Given the description of an element on the screen output the (x, y) to click on. 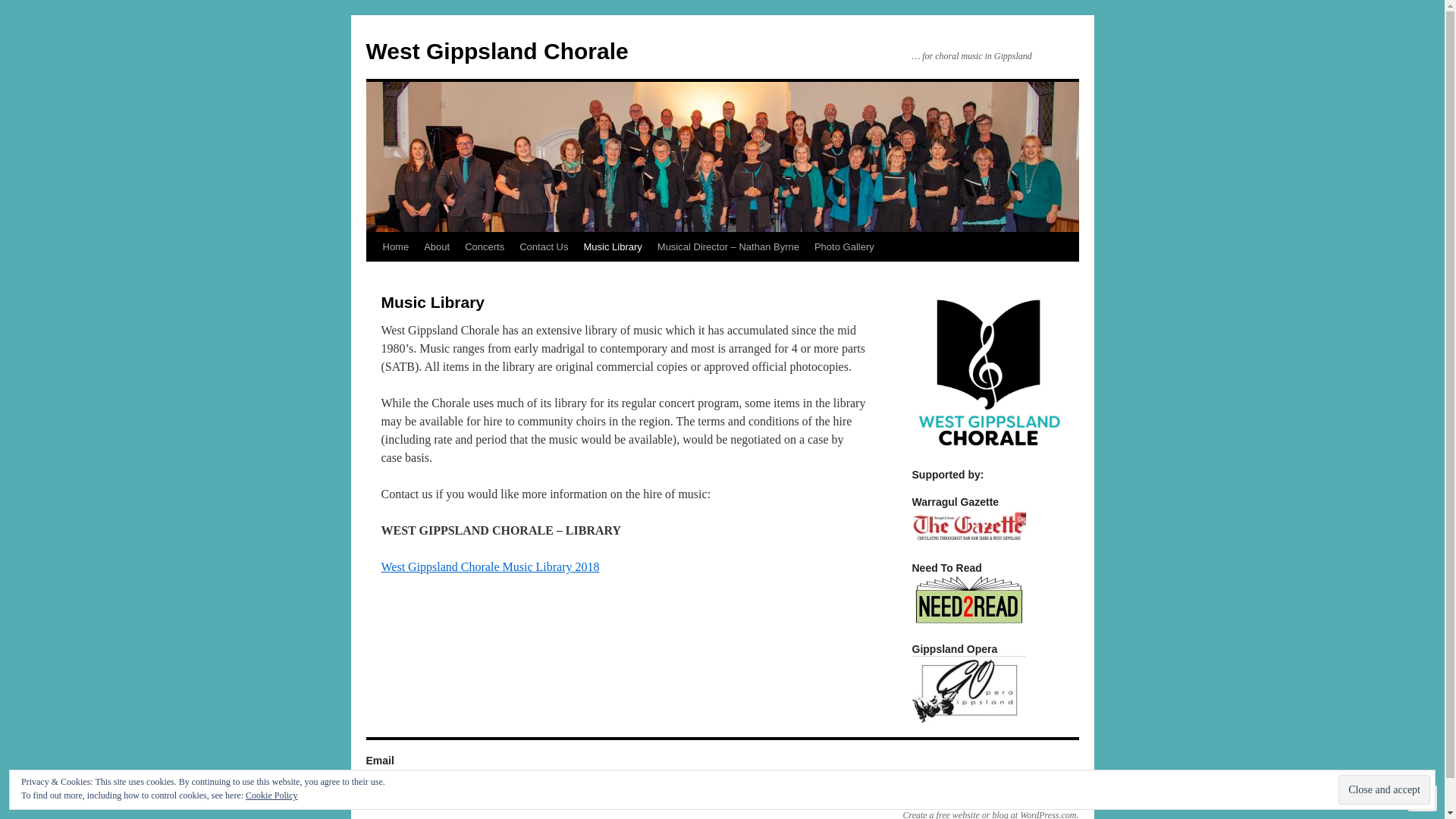
contact@westgippslandchorale.org.au Element type: text (434, 773)
Need 2 Read Element type: hover (968, 599)
West Gippsland Chorale Element type: text (496, 50)
Concerts Element type: text (484, 246)
Photo Gallery Element type: text (843, 246)
Cookie Policy Element type: text (271, 795)
About Element type: text (436, 246)
Home Element type: text (395, 246)
Contact Us Element type: text (543, 246)
West Gippsland Chorale Element type: text (426, 801)
West Gippsland Chorale Music Library 2018 Element type: text (489, 566)
Like or Reblog Element type: hover (623, 621)
Close and accept Element type: text (1384, 789)
Music Library Element type: text (612, 246)
Gazette Element type: hover (968, 525)
